Given the description of an element on the screen output the (x, y) to click on. 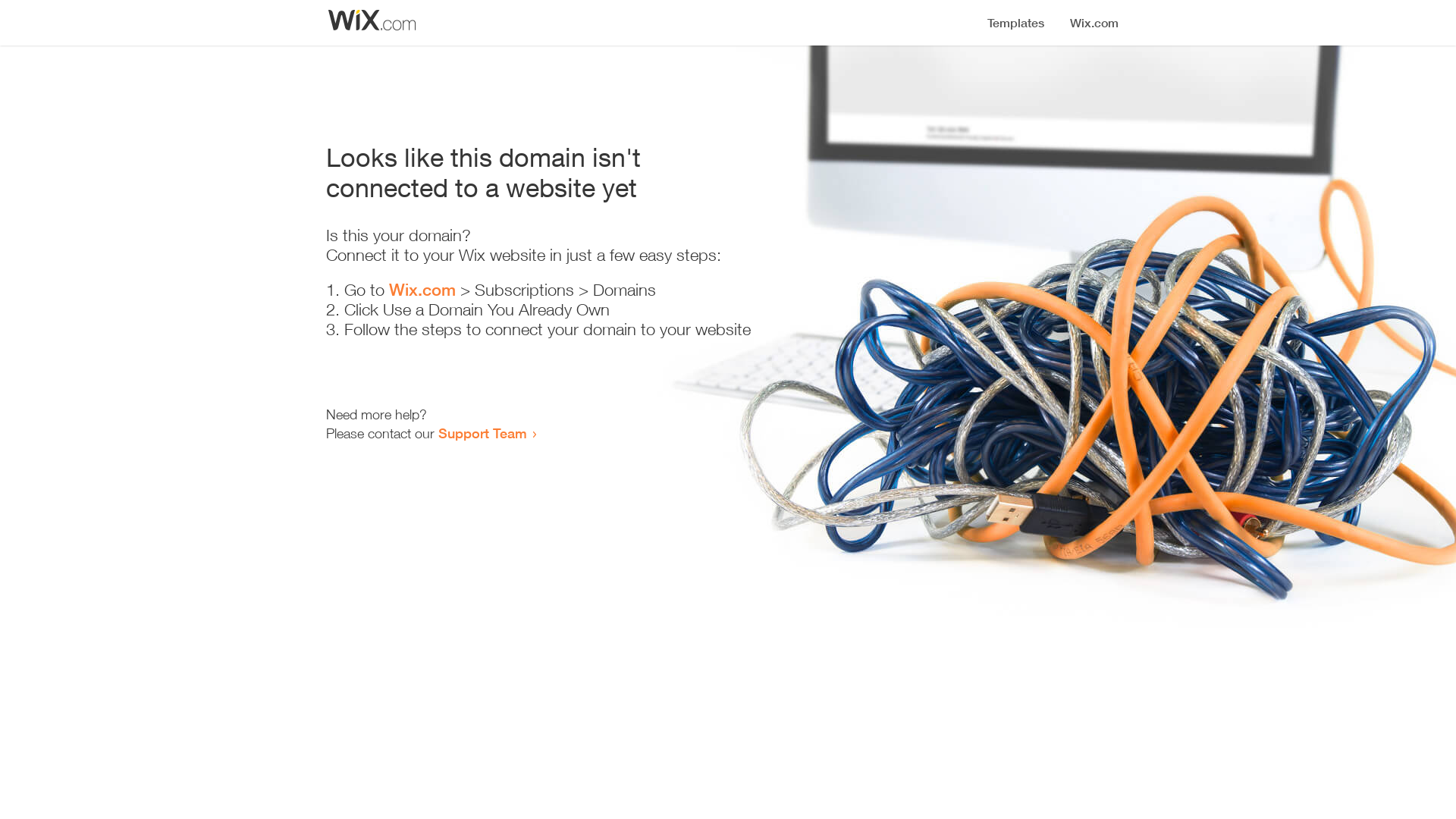
Wix.com Element type: text (422, 289)
Support Team Element type: text (482, 432)
